Given the description of an element on the screen output the (x, y) to click on. 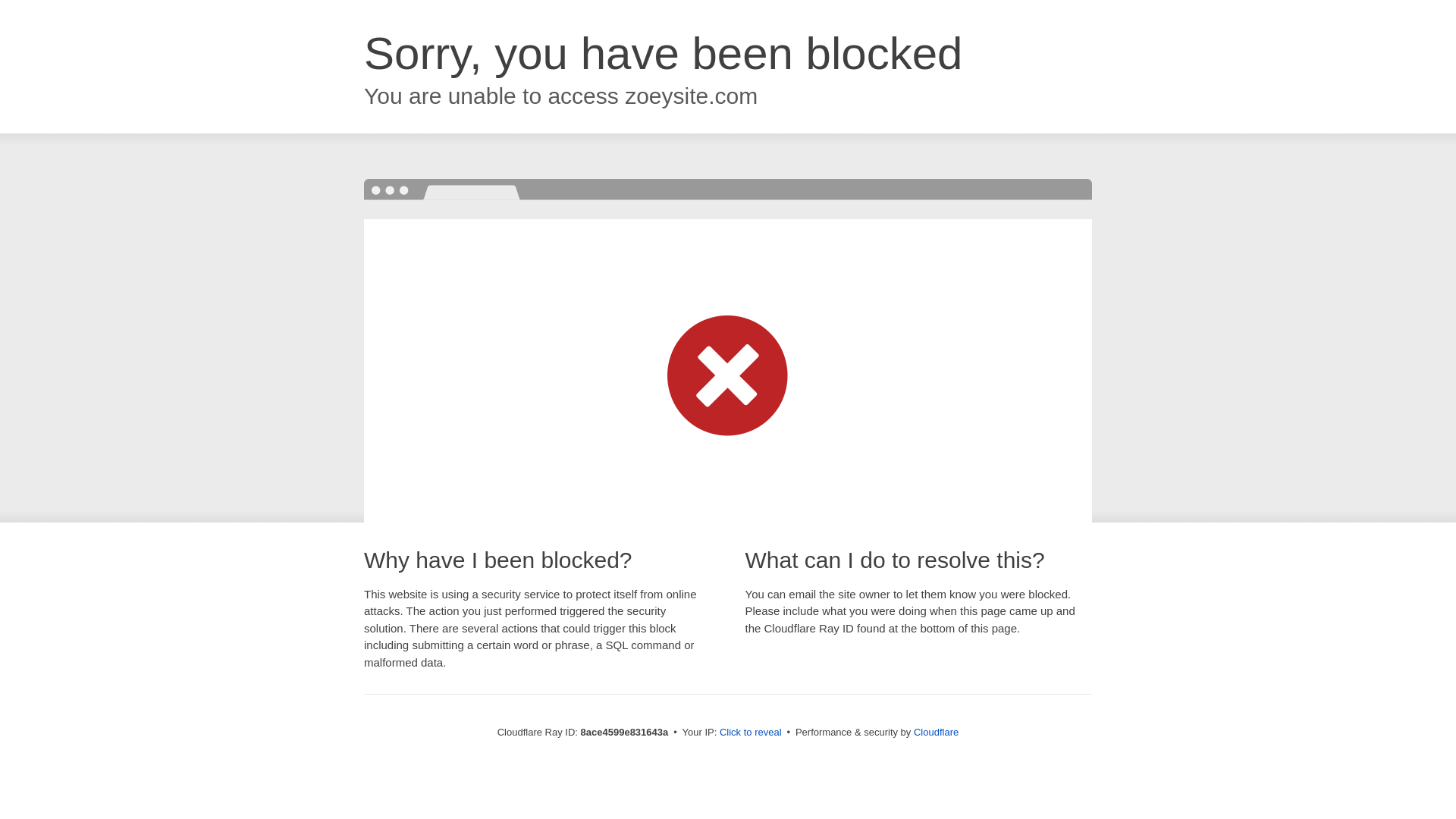
Click to reveal (750, 732)
Cloudflare (936, 731)
